Given the description of an element on the screen output the (x, y) to click on. 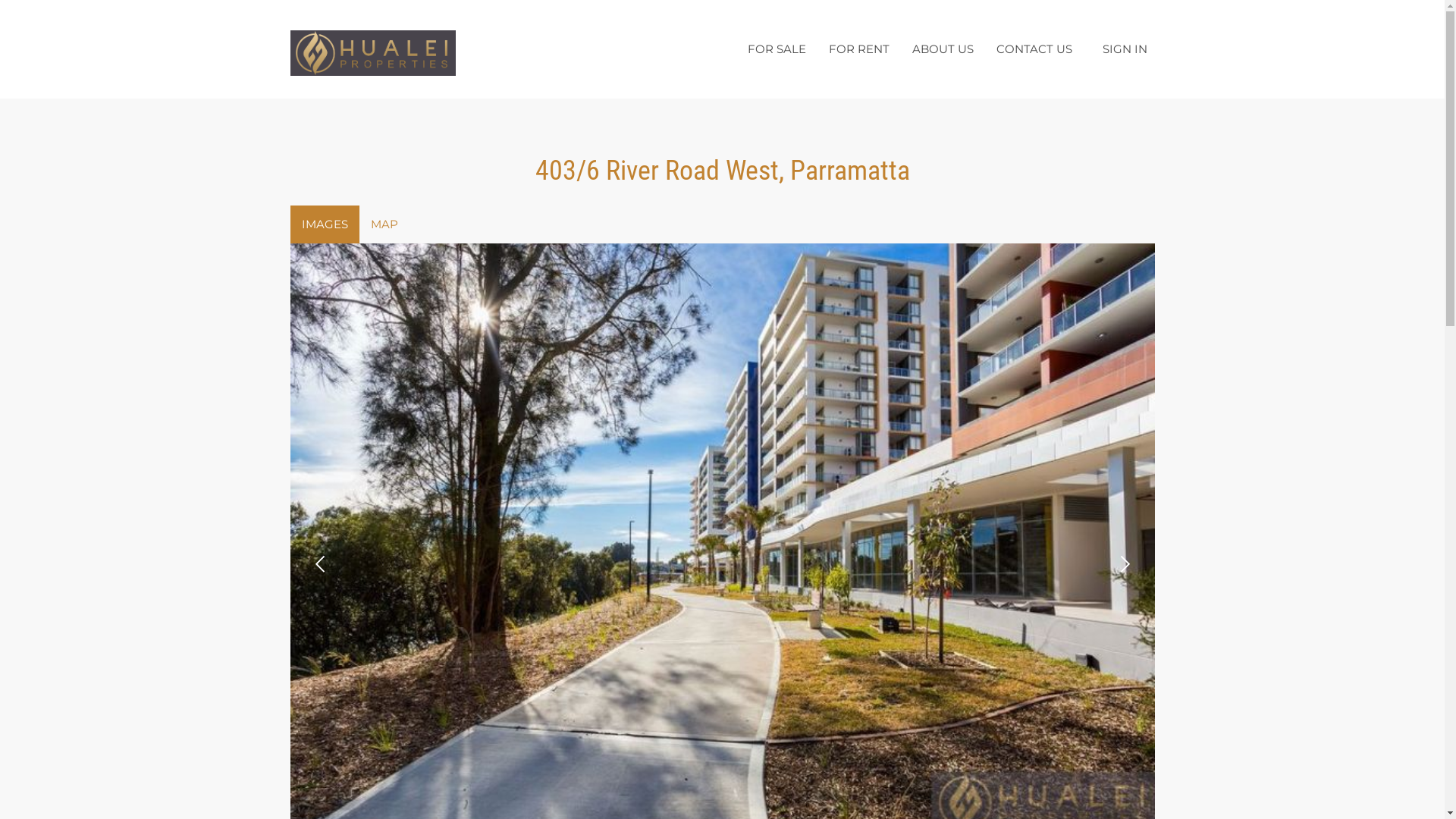
CONTACT US Element type: text (1033, 48)
FOR SALE Element type: text (775, 48)
prev Element type: text (320, 563)
SIGN IN Element type: text (1124, 48)
FOR RENT Element type: text (858, 48)
IMAGES Element type: text (323, 224)
ABOUT US Element type: text (942, 48)
next Element type: text (1123, 563)
MAP Element type: text (384, 224)
